Given the description of an element on the screen output the (x, y) to click on. 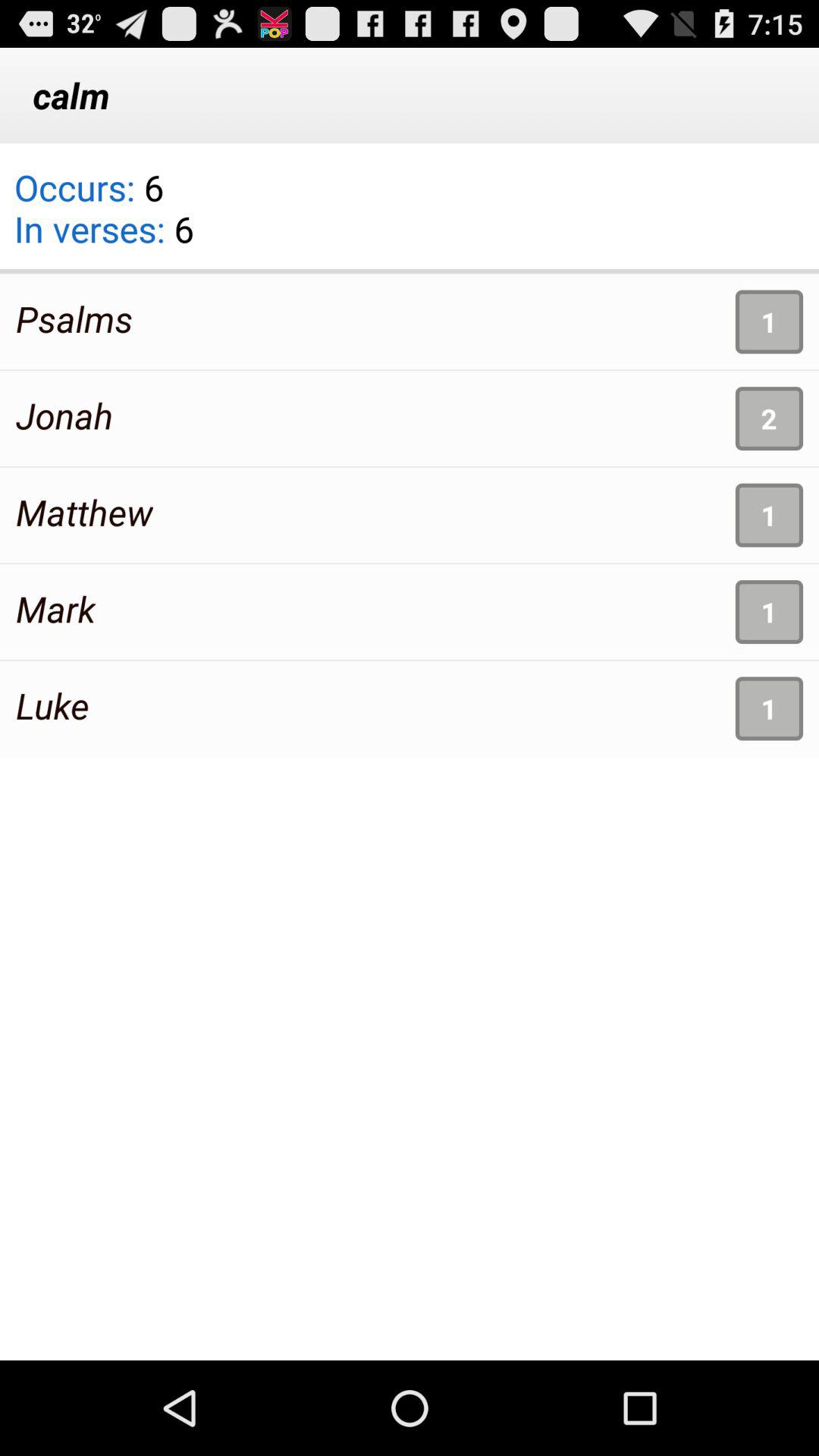
scroll until the occurs 6 in item (103, 218)
